Given the description of an element on the screen output the (x, y) to click on. 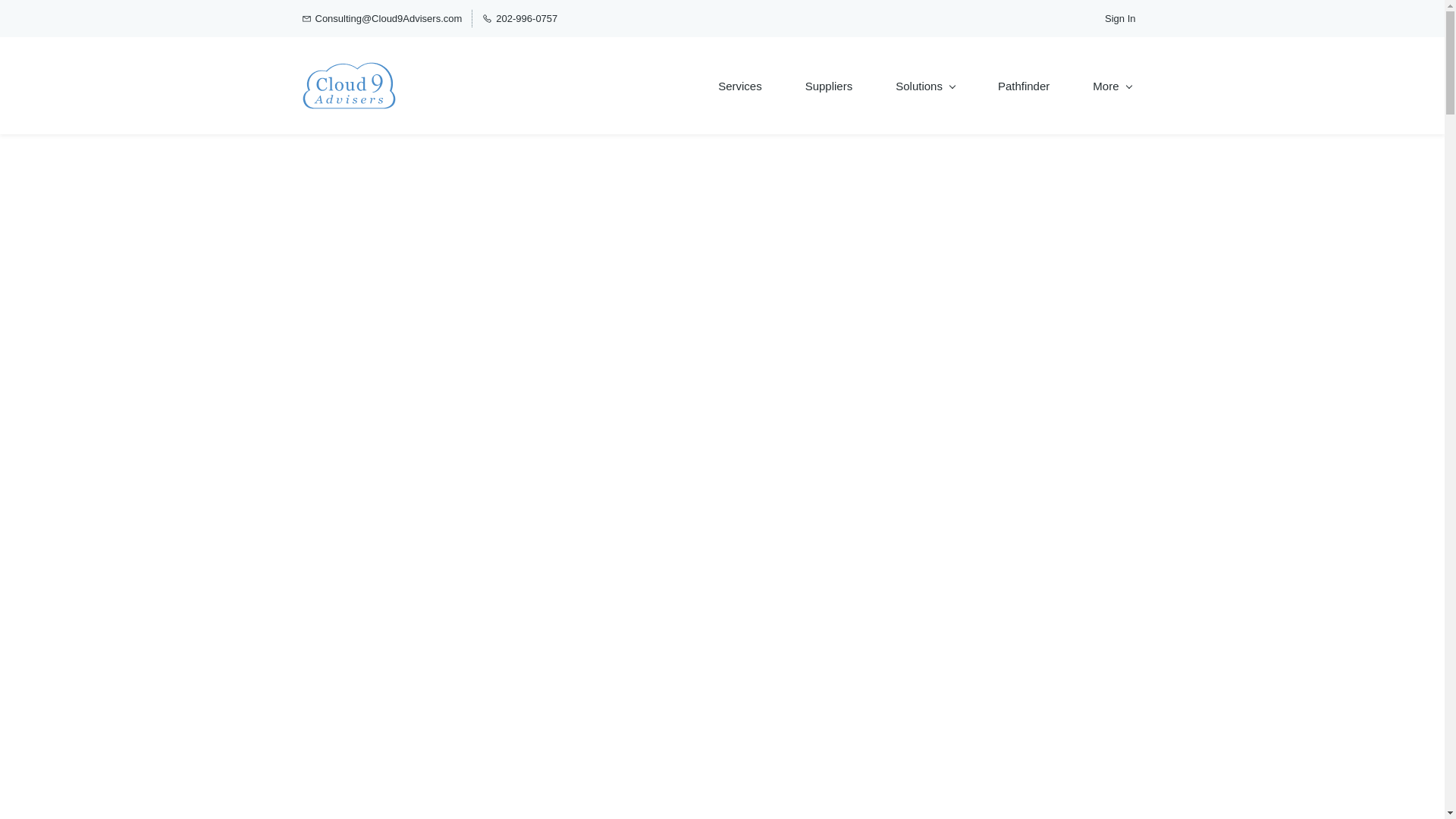
Solutions (924, 85)
More (1111, 85)
Suppliers (828, 85)
Sign In (1120, 18)
202-996-0757 (519, 18)
Services (740, 85)
Pathfinder (1023, 85)
